Given the description of an element on the screen output the (x, y) to click on. 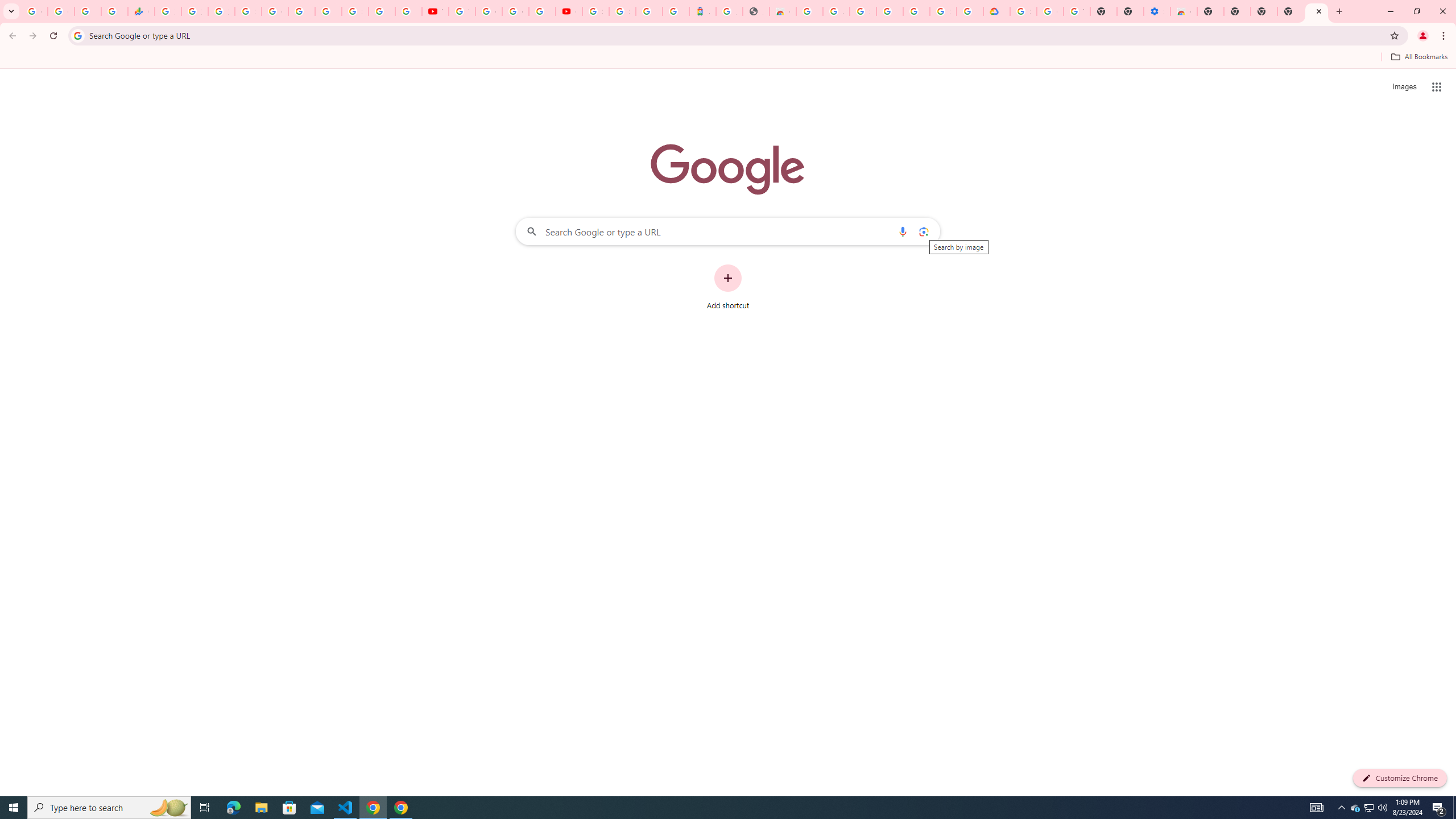
Privacy Checkup (408, 11)
Sign in - Google Accounts (1023, 11)
